Given the description of an element on the screen output the (x, y) to click on. 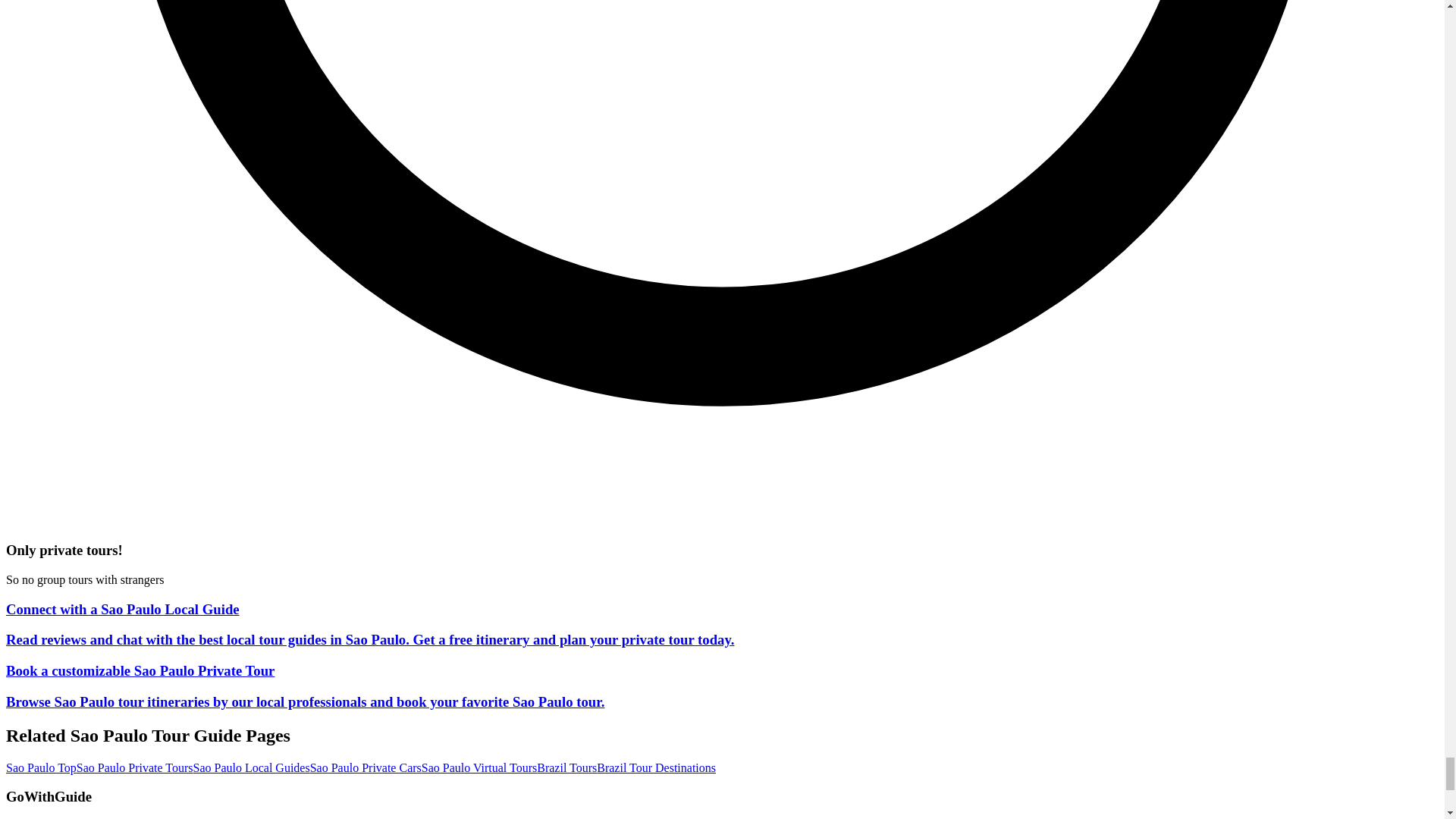
Sao Paulo Private Cars (366, 767)
Sao Paulo Virtual Tours (479, 767)
Sao Paulo Top (41, 767)
Sao Paulo Local Guides (250, 767)
Brazil Tours (566, 767)
Brazil Tour Destinations (656, 767)
Sao Paulo Private Tours (135, 767)
